Given the description of an element on the screen output the (x, y) to click on. 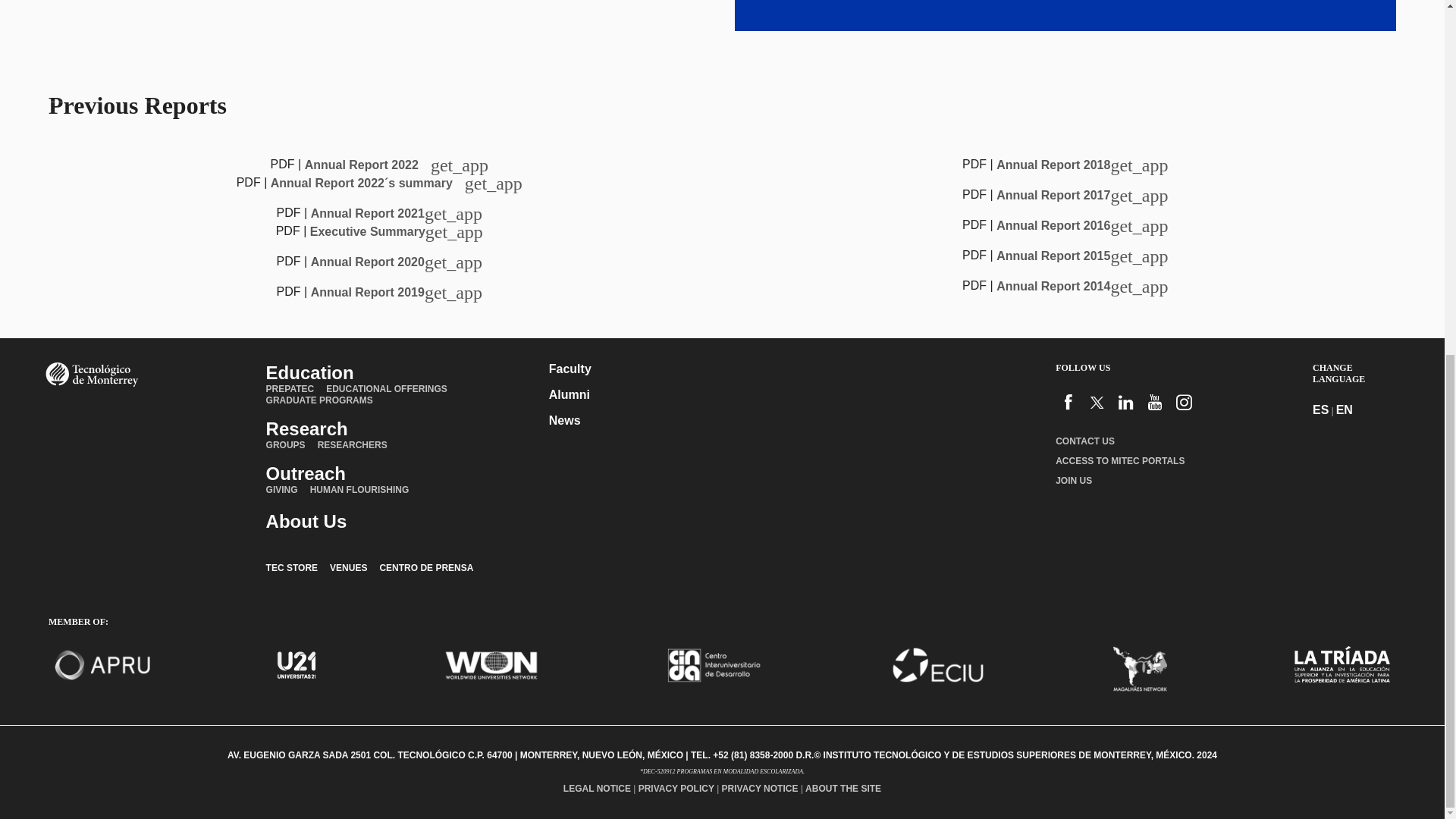
2016 Annual Report (1081, 225)
2022 Annual Report (395, 164)
2015 Annual Report (1081, 255)
2014 Annual Report (1081, 286)
2021 Annual Report (396, 213)
2018 Annual Report (1081, 164)
2019 Annual Report (396, 291)
2017 Annual Report (1081, 195)
2020 Annual Report (396, 261)
